Given the description of an element on the screen output the (x, y) to click on. 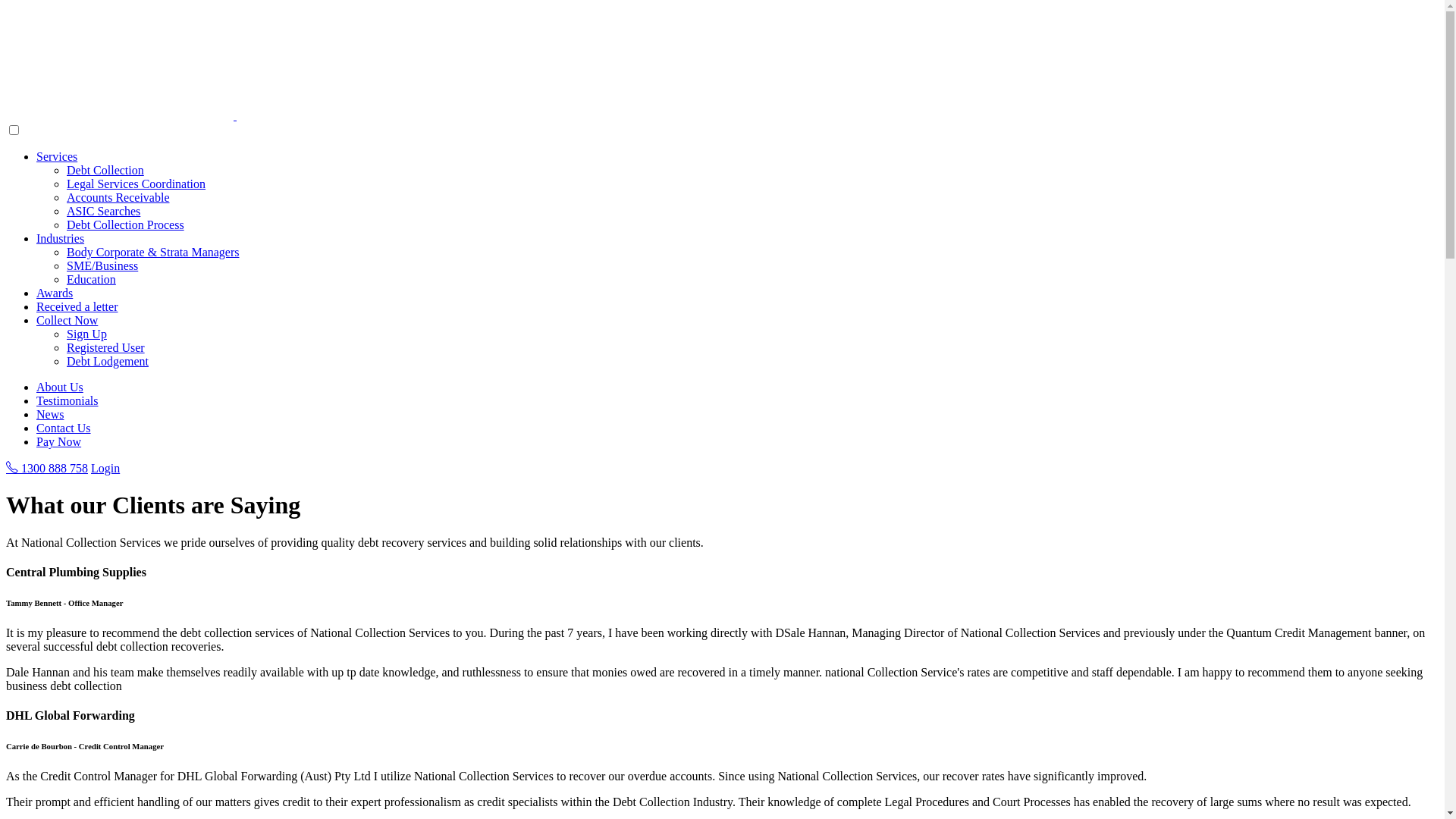
ASIC Searches Element type: text (103, 210)
Debt Collection Element type: text (105, 169)
Login Element type: text (105, 467)
Awards Element type: text (54, 292)
Testimonials Element type: text (67, 400)
Received a letter Element type: text (77, 306)
Services Element type: text (56, 156)
Industries Element type: text (60, 238)
Education Element type: text (91, 279)
Collect Now Element type: text (66, 319)
SME/Business Element type: text (102, 265)
Body Corporate & Strata Managers Element type: text (152, 251)
Legal Services Coordination Element type: text (135, 183)
Debt Collection Process Element type: text (125, 224)
1300 888 758 Element type: text (46, 467)
Debt Lodgement Element type: text (107, 360)
Registered User Element type: text (105, 347)
Sign Up Element type: text (86, 333)
Pay Now Element type: text (58, 441)
About Us Element type: text (59, 386)
Contact Us Element type: text (63, 427)
News Element type: text (49, 413)
Accounts Receivable Element type: text (117, 197)
